Given the description of an element on the screen output the (x, y) to click on. 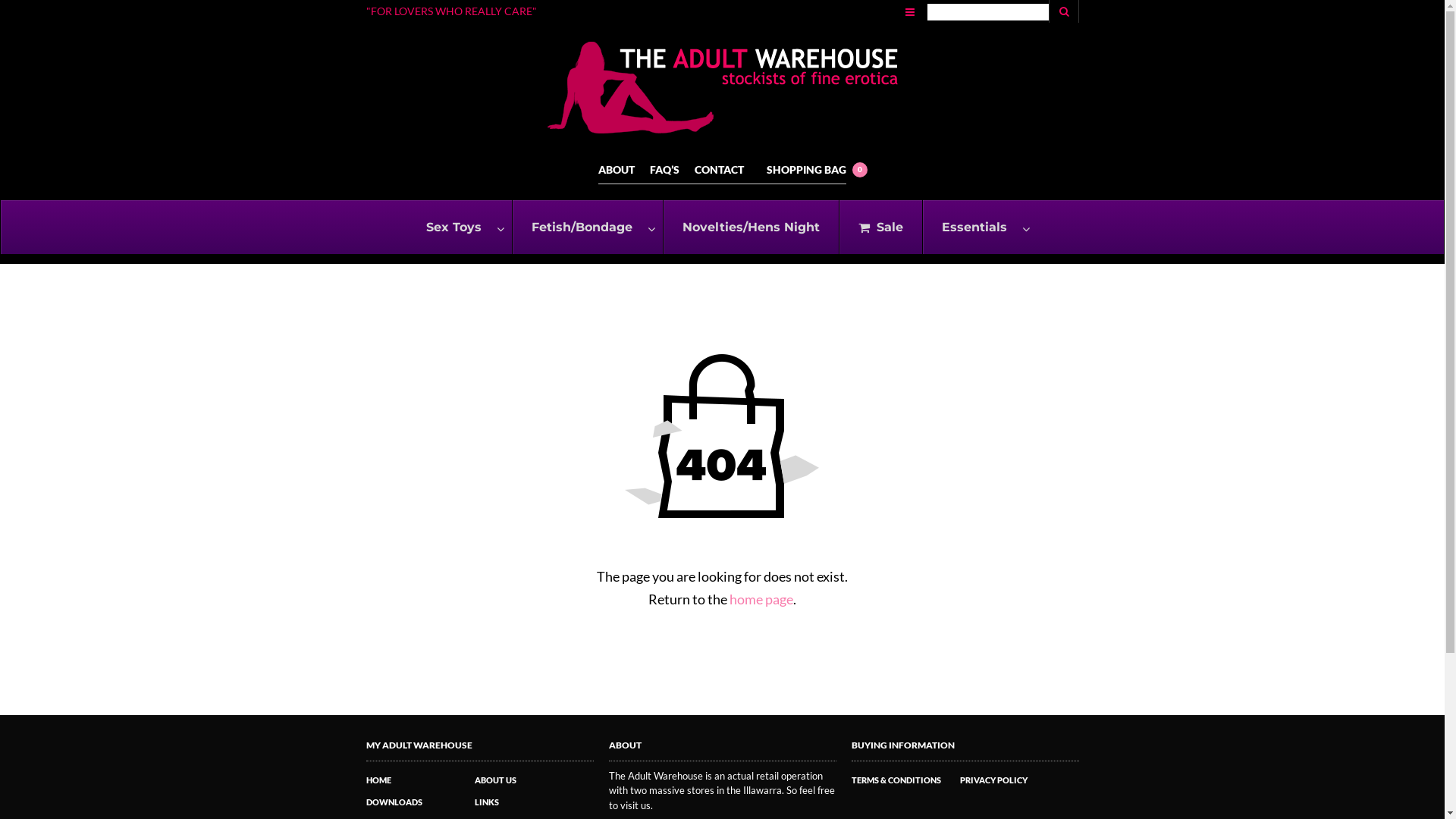
CONTACT Element type: text (719, 169)
TERMS & CONDITIONS Element type: text (895, 779)
Fetish/Bondage Element type: text (586, 227)
DOWNLOADS Element type: text (393, 801)
HOME Element type: text (377, 779)
Novelties/Hens Night Element type: text (750, 227)
home page Element type: text (761, 598)
Sale Element type: text (880, 227)
ABOUT US Element type: text (495, 779)
Essentials Element type: text (979, 227)
Sex Toys Element type: text (459, 227)
PRIVACY POLICY Element type: text (993, 779)
ABOUT Element type: text (616, 169)
LINKS Element type: text (486, 801)
